Given the description of an element on the screen output the (x, y) to click on. 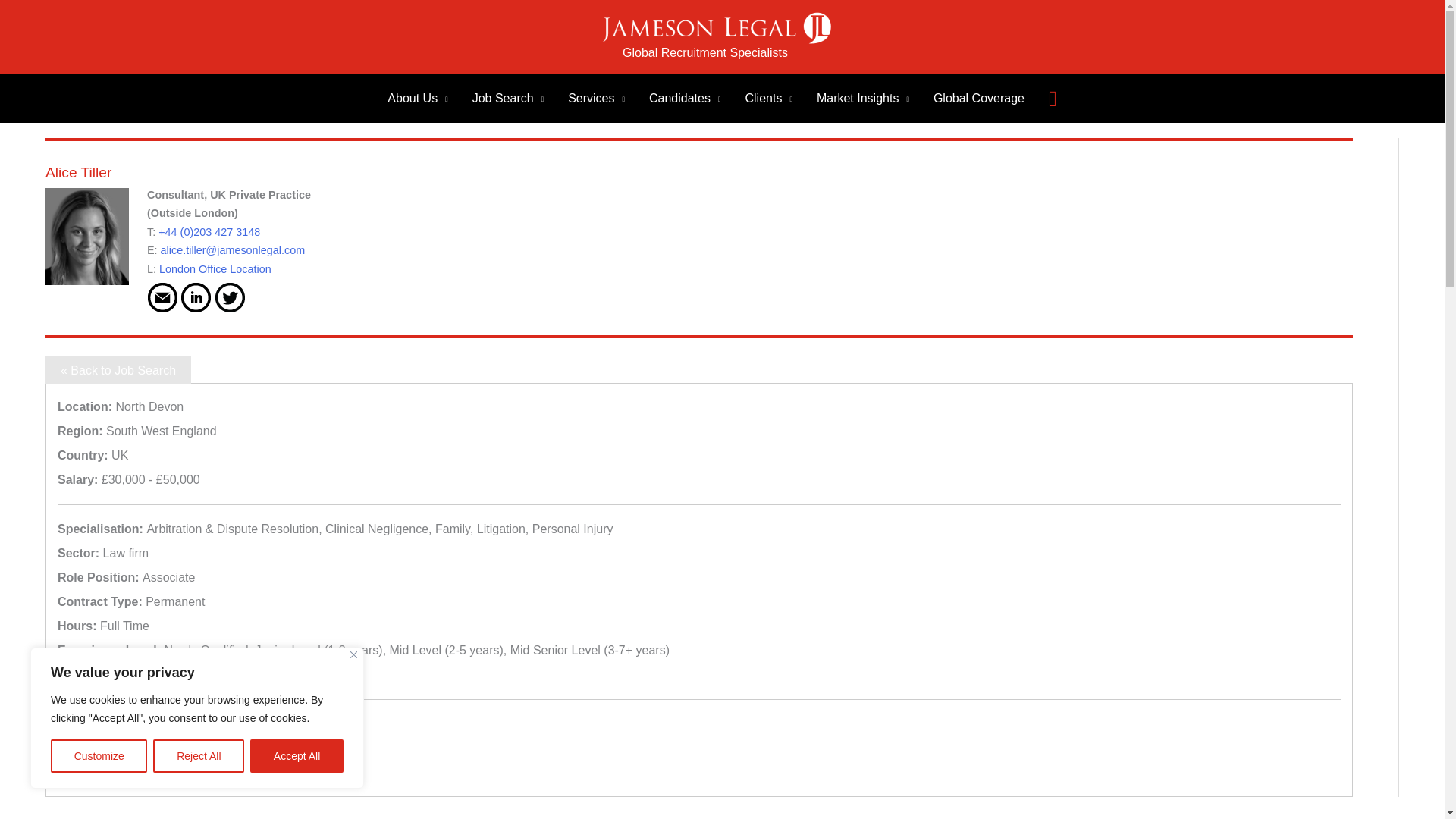
Services (596, 98)
Accept All (296, 756)
Job Search (508, 98)
Reject All (198, 756)
About Us (417, 98)
Customize (98, 756)
